Given the description of an element on the screen output the (x, y) to click on. 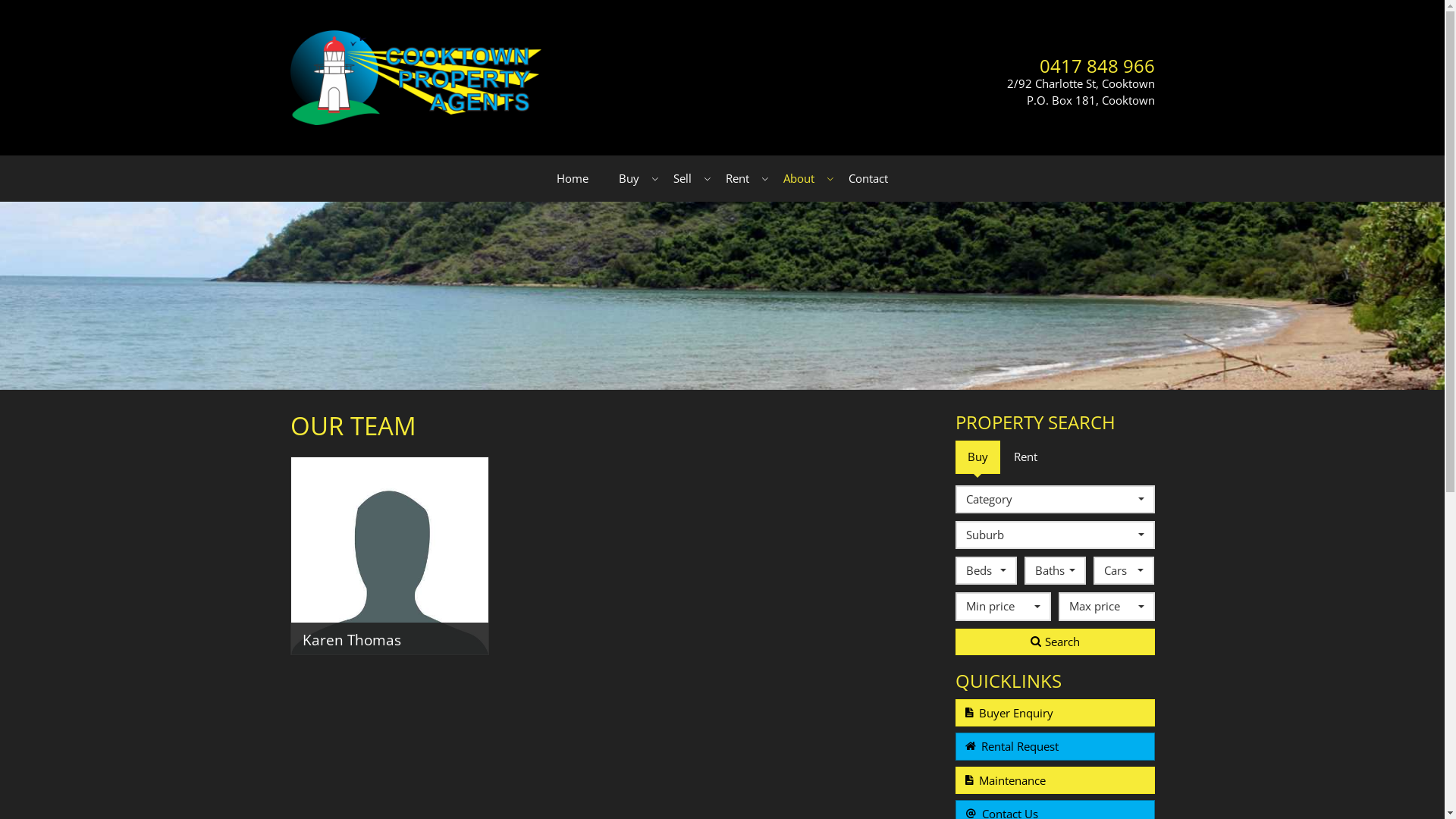
Home Element type: text (572, 178)
Buy Element type: text (977, 456)
About Element type: text (800, 178)
Rent Element type: text (1025, 456)
Baths
  Element type: text (1054, 570)
Beds
  Element type: text (985, 570)
Cars
  Element type: text (1123, 570)
Cooktown Property Agents Element type: hover (414, 76)
Rental Request Element type: text (1054, 745)
Karen Thomas Element type: hover (389, 555)
Category
  Element type: text (1054, 499)
Sell Element type: text (684, 178)
Min price
  Element type: text (1003, 606)
Maintenance Element type: text (1054, 779)
Search Element type: text (1054, 641)
Buyer Enquiry Element type: text (1054, 712)
Buy Element type: text (630, 178)
Max price
  Element type: text (1106, 606)
Contact Element type: text (868, 178)
Suburb
  Element type: text (1054, 534)
Rent Element type: text (739, 178)
